Given the description of an element on the screen output the (x, y) to click on. 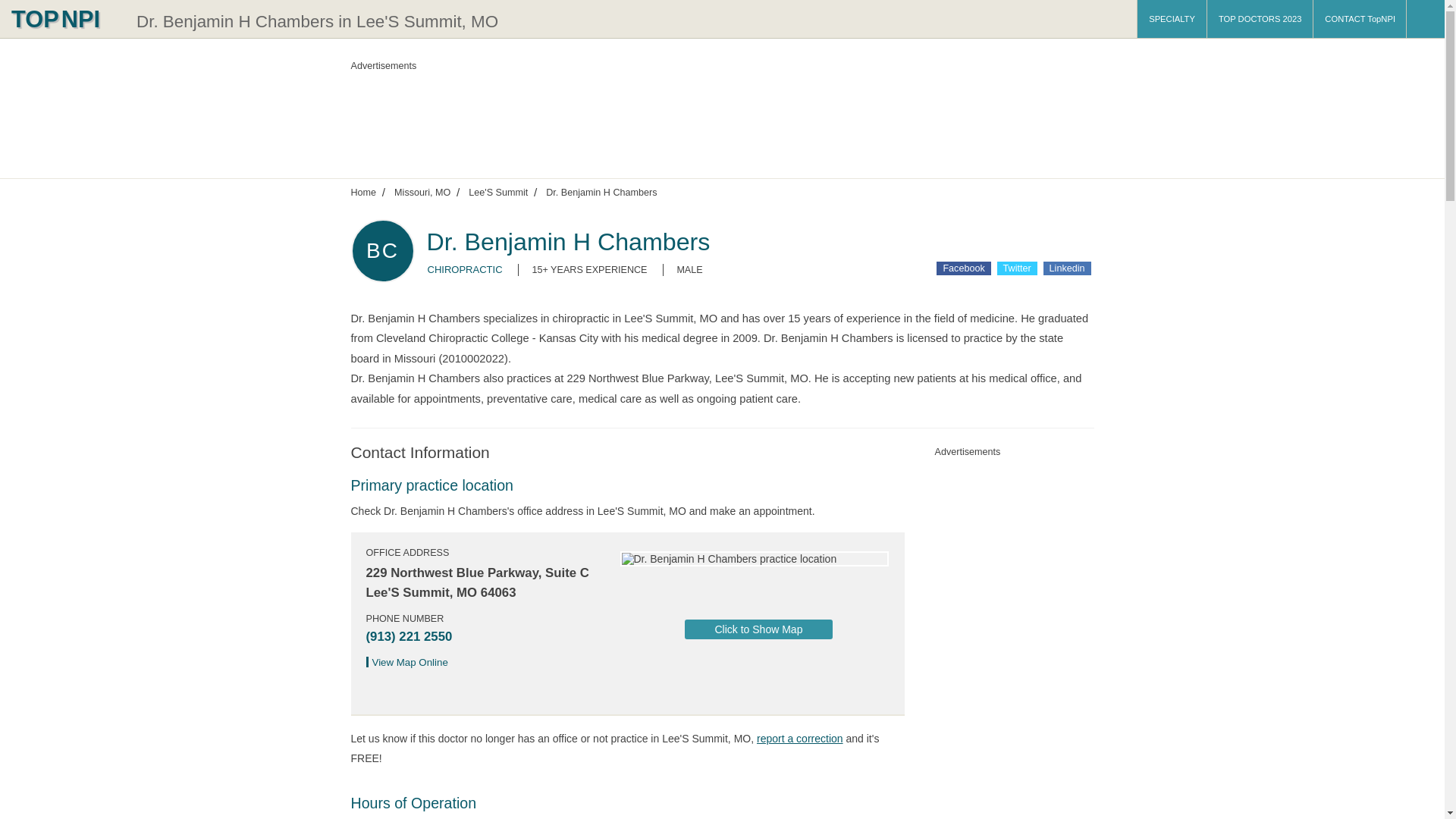
Update practice location (800, 738)
Click to show map (758, 629)
report a correction (800, 738)
Share Dr. Benjamin H Chambers on Twitter (1016, 268)
View Map Online (411, 662)
Click to Show Map (758, 629)
Chiropractic (465, 269)
Dr. Benjamin H Chambers in Lee'S Summit, MO (316, 21)
Find doctors by specialty (1172, 18)
NPI lookup (64, 18)
Twitter (1016, 268)
Dr. Benjamin H Chambers in Lee'S Summit, MO (316, 21)
Share Dr. Benjamin H Chambers on Linkedin (1066, 268)
TOPNPI (64, 18)
Linkedin (1066, 268)
